Given the description of an element on the screen output the (x, y) to click on. 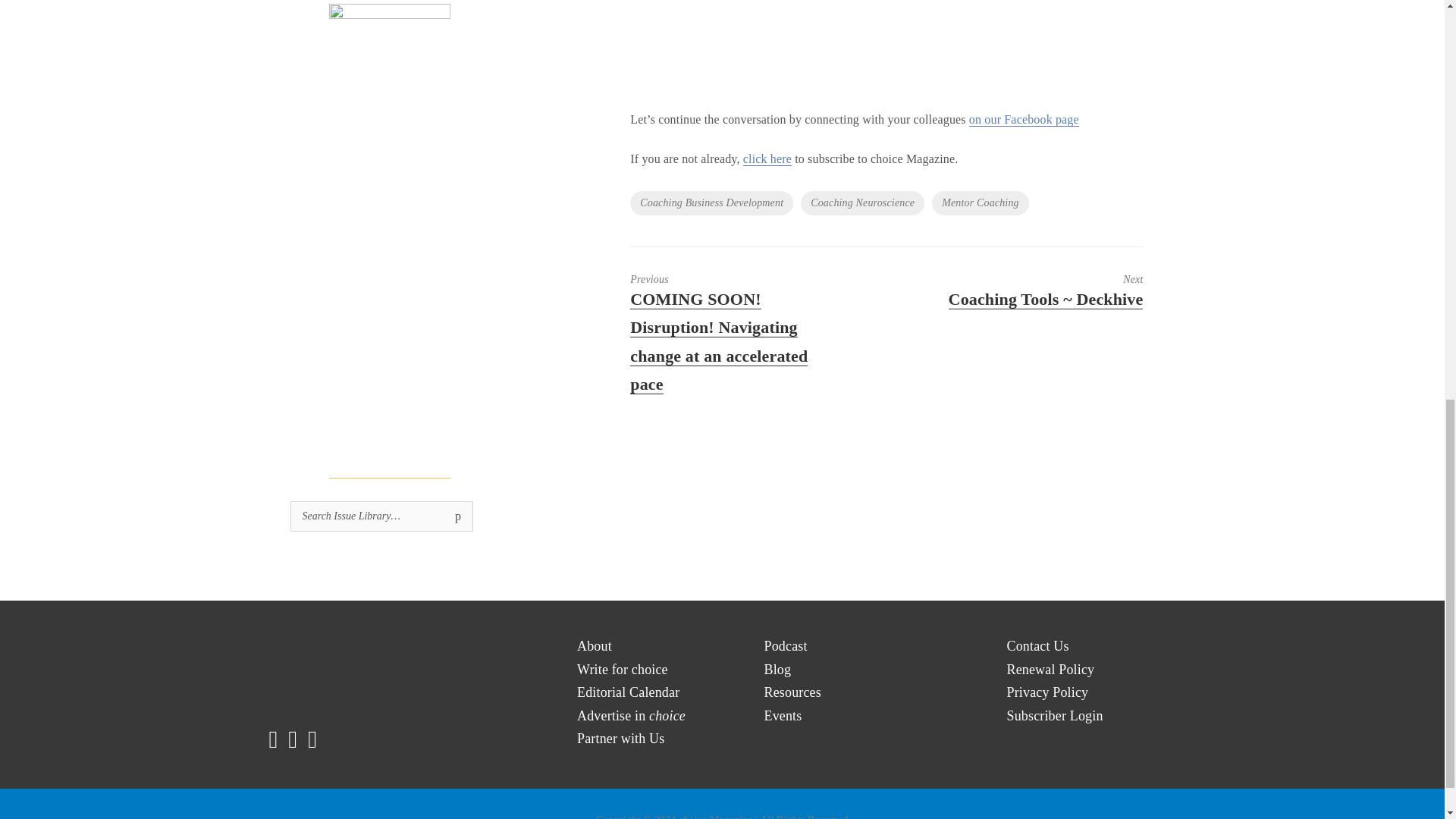
Coaching Business Development (711, 202)
Write for choice (622, 669)
Mentor Coaching (980, 202)
Editorial Calendar (627, 692)
on our Facebook page (1023, 119)
About (593, 646)
Coaching Neuroscience (862, 202)
click here (767, 159)
Search for: (381, 516)
